Given the description of an element on the screen output the (x, y) to click on. 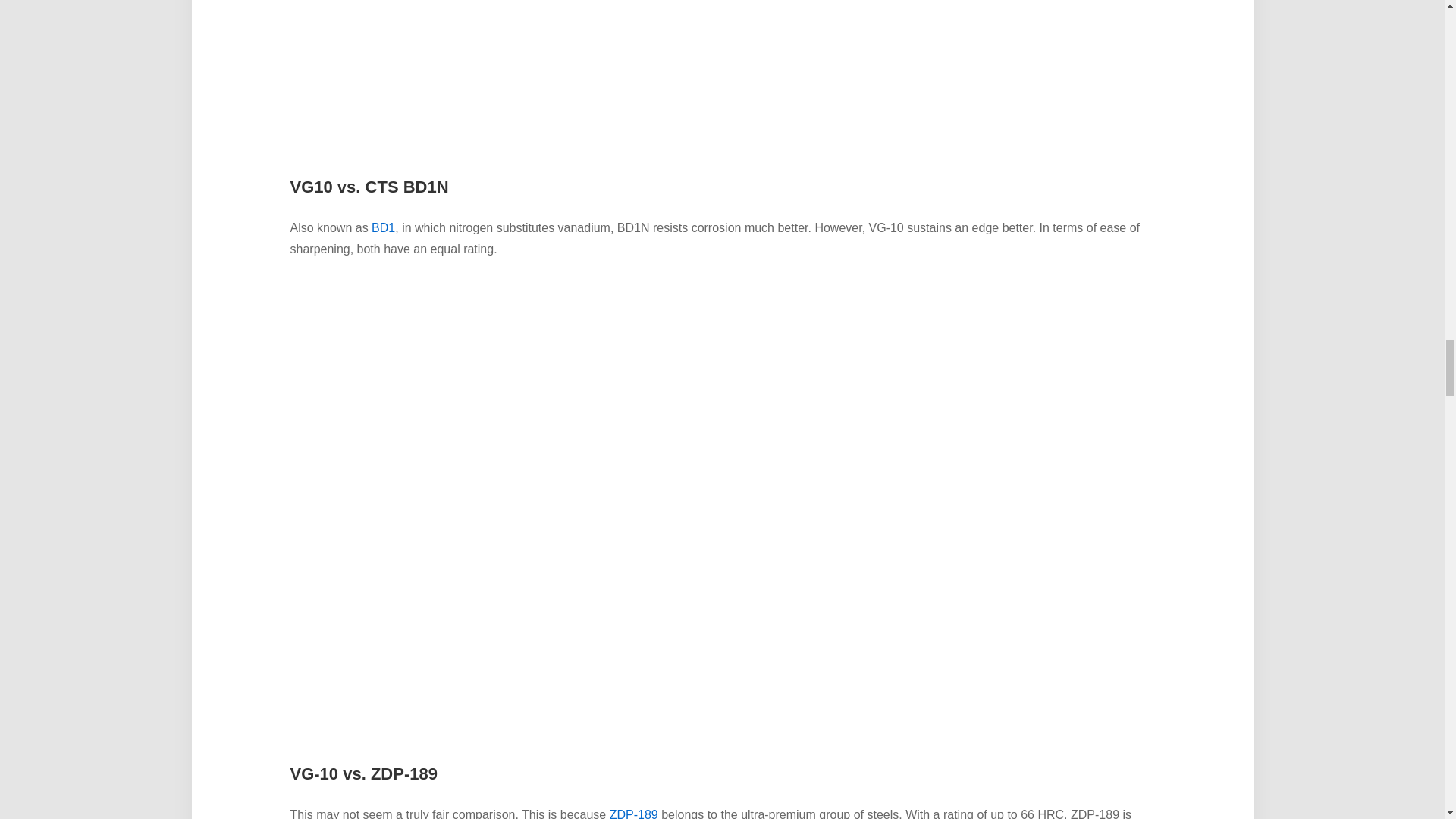
ZDP-189 (634, 813)
BD1 (382, 227)
VG10 Steel: Is it a Good Knife Steel? 7 (721, 78)
